Given the description of an element on the screen output the (x, y) to click on. 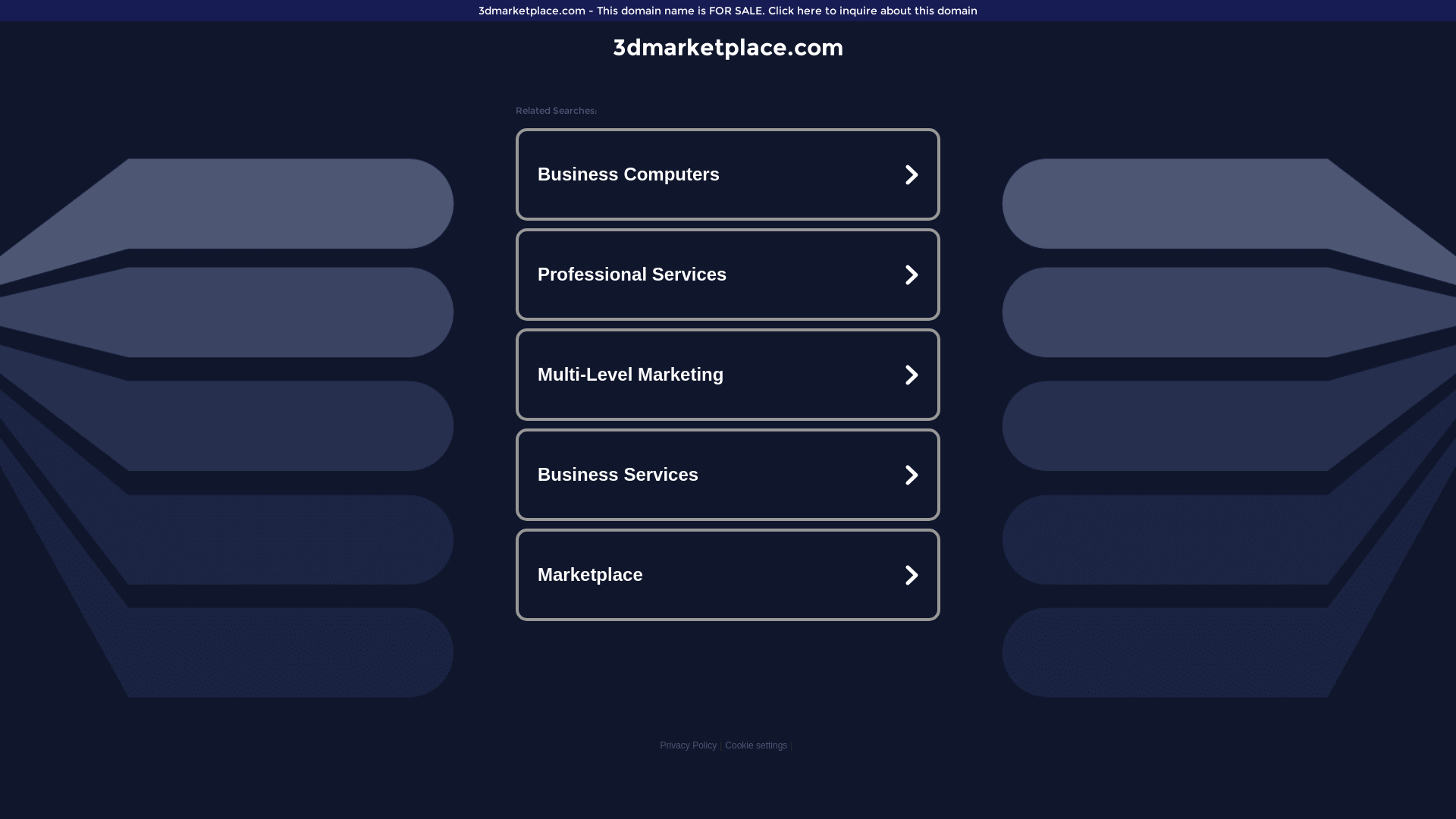
Business Computers Element type: text (727, 174)
Marketplace Element type: text (727, 574)
Cookie settings Element type: text (755, 745)
3dmarketplace.com Element type: text (727, 47)
Professional Services Element type: text (727, 274)
Privacy Policy Element type: text (687, 745)
Business Services Element type: text (727, 474)
Multi-Level Marketing Element type: text (727, 374)
